Given the description of an element on the screen output the (x, y) to click on. 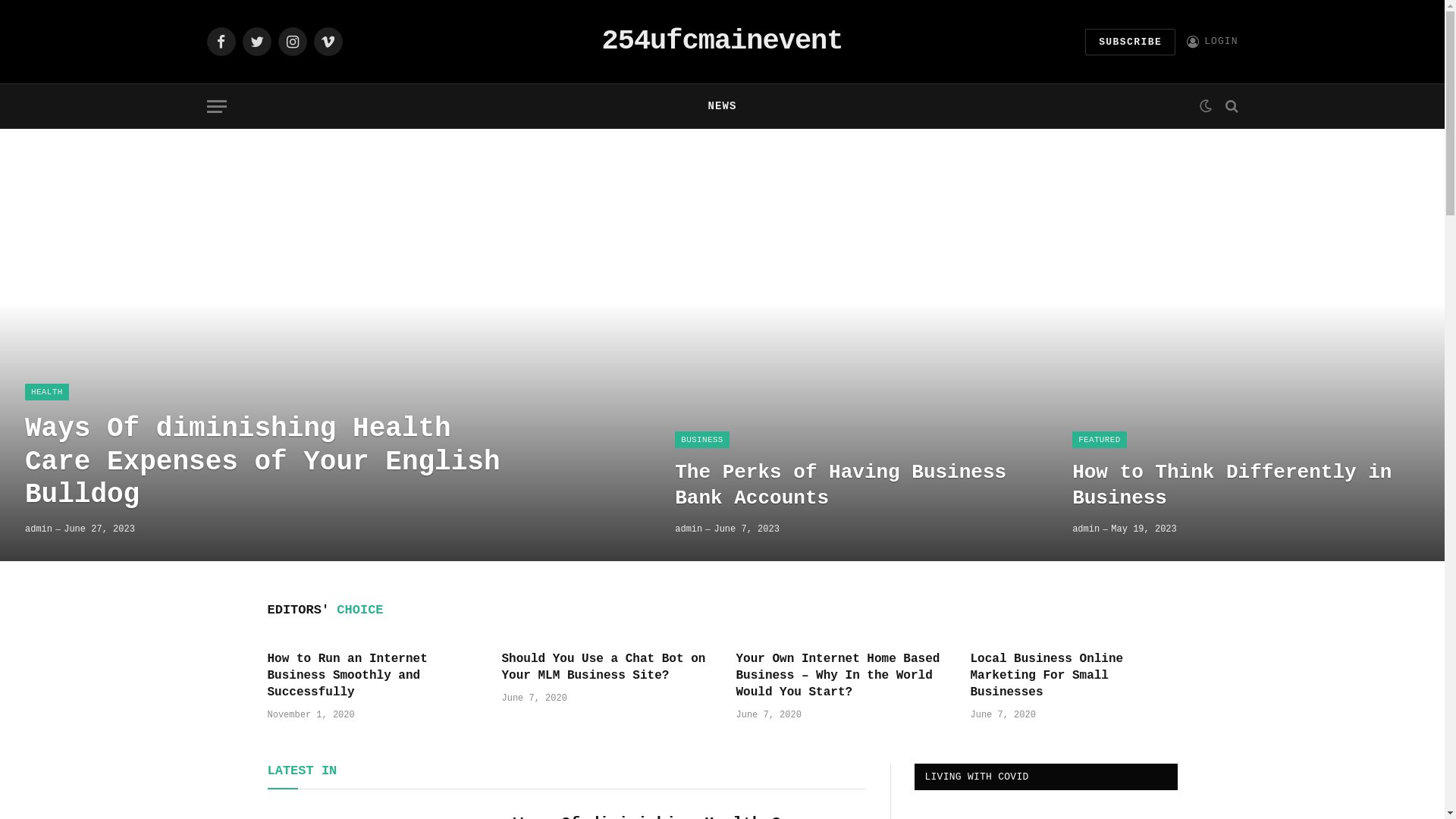
BUSINESS Element type: text (701, 439)
LOGIN Element type: text (1211, 41)
FEATURED Element type: text (1099, 439)
admin Element type: text (1085, 529)
admin Element type: text (38, 529)
Local Business Online Marketing For Small Businesses Element type: text (1073, 675)
NEWS Element type: text (721, 106)
HEALTH Element type: text (47, 391)
Switch to Dark Design - easier on eyes. Element type: hover (1204, 105)
Instagram Element type: text (291, 41)
SUBSCRIBE Element type: text (1130, 41)
How to Think Differently in Business Element type: text (1245, 485)
Should You Use a Chat Bot on Your MLM Business Site? Element type: text (605, 667)
The Perks of Having Business Bank Accounts Element type: text (848, 485)
How to Run an Internet Business Smoothly and Successfully Element type: text (369, 675)
Search Element type: hover (1230, 106)
Facebook Element type: text (220, 41)
Twitter Element type: text (256, 41)
Vimeo Element type: text (327, 41)
admin Element type: text (688, 529)
254ufcmainevent Element type: text (721, 41)
